Given the description of an element on the screen output the (x, y) to click on. 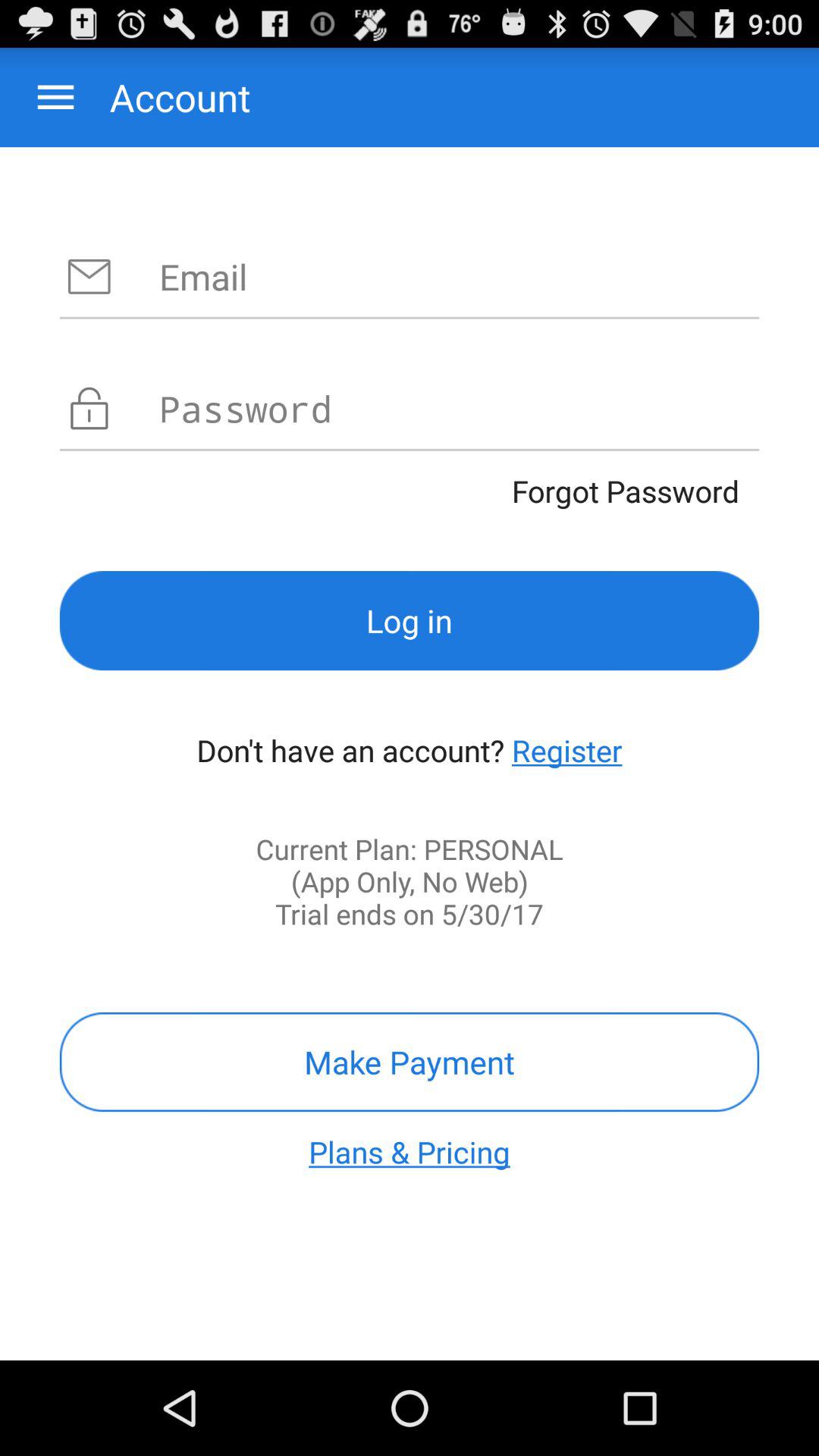
enter (459, 276)
